Given the description of an element on the screen output the (x, y) to click on. 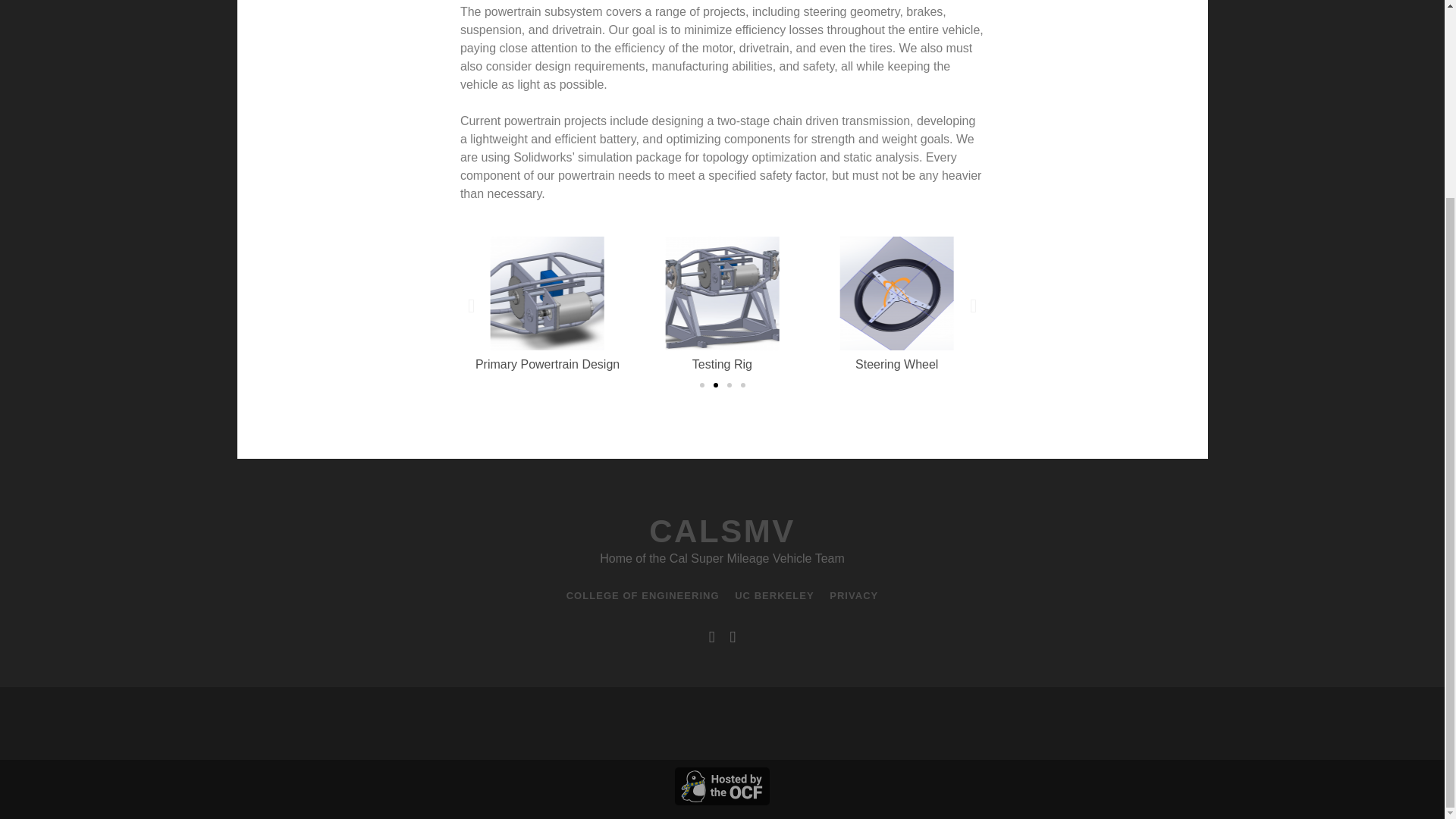
COLLEGE OF ENGINEERING (642, 596)
PRIVACY (853, 596)
Privacy (853, 596)
UC BERKELEY (774, 596)
CALSMV (721, 530)
